Given the description of an element on the screen output the (x, y) to click on. 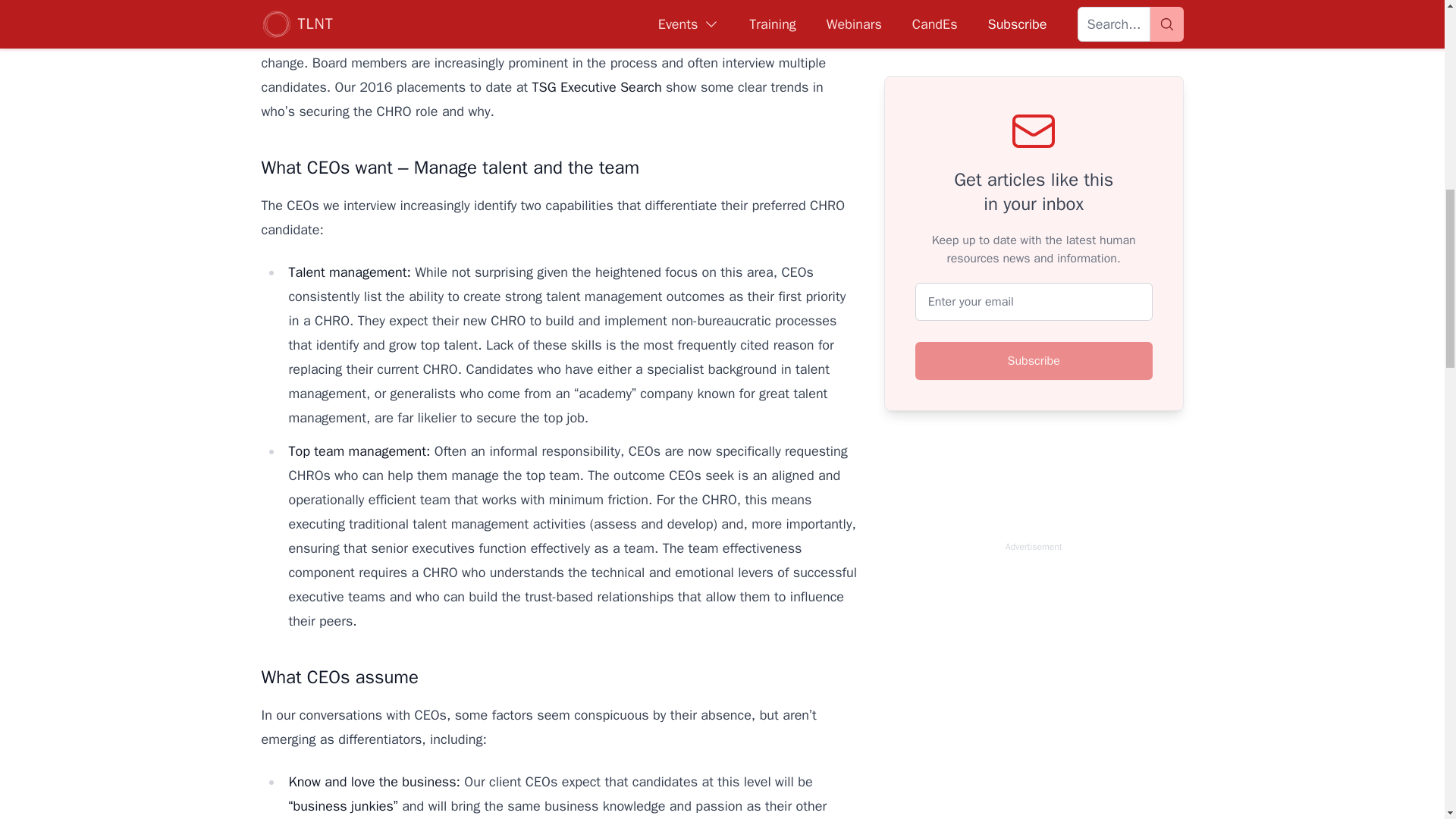
TSG Executive Search (596, 86)
